Given the description of an element on the screen output the (x, y) to click on. 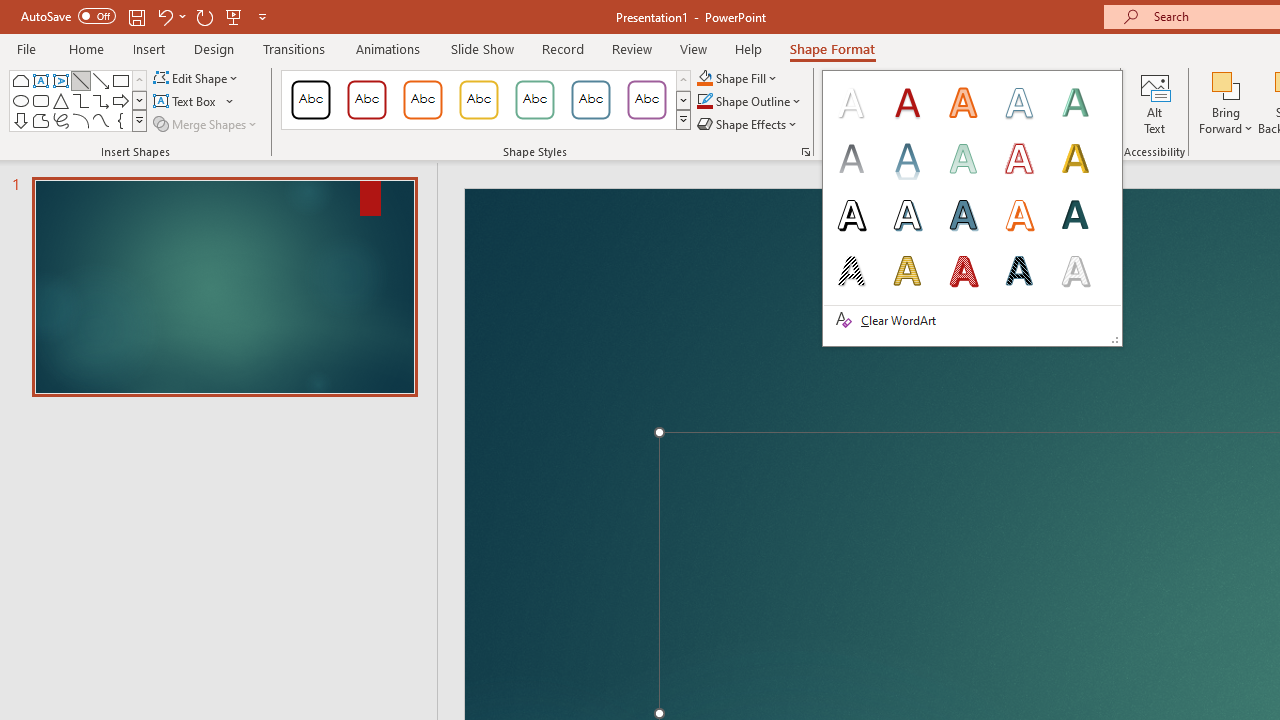
Colored Outline - Gold, Accent 3 (478, 100)
Bring Forward (1225, 102)
Shape Fill Orange, Accent 2 (704, 78)
Shape Outline Blue, Accent 1 (704, 101)
Bring Forward (1225, 84)
